Given the description of an element on the screen output the (x, y) to click on. 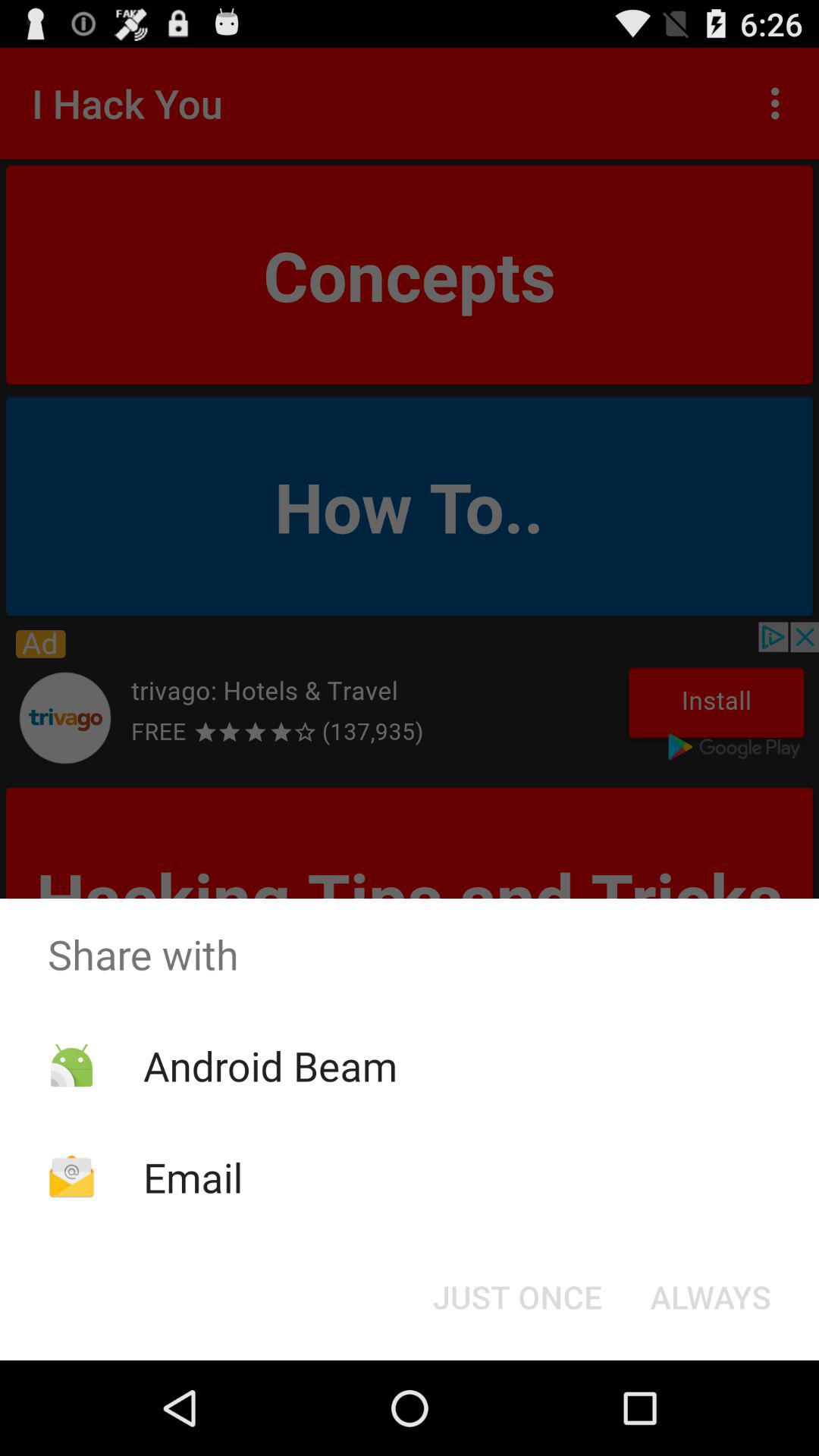
scroll until email app (192, 1176)
